Given the description of an element on the screen output the (x, y) to click on. 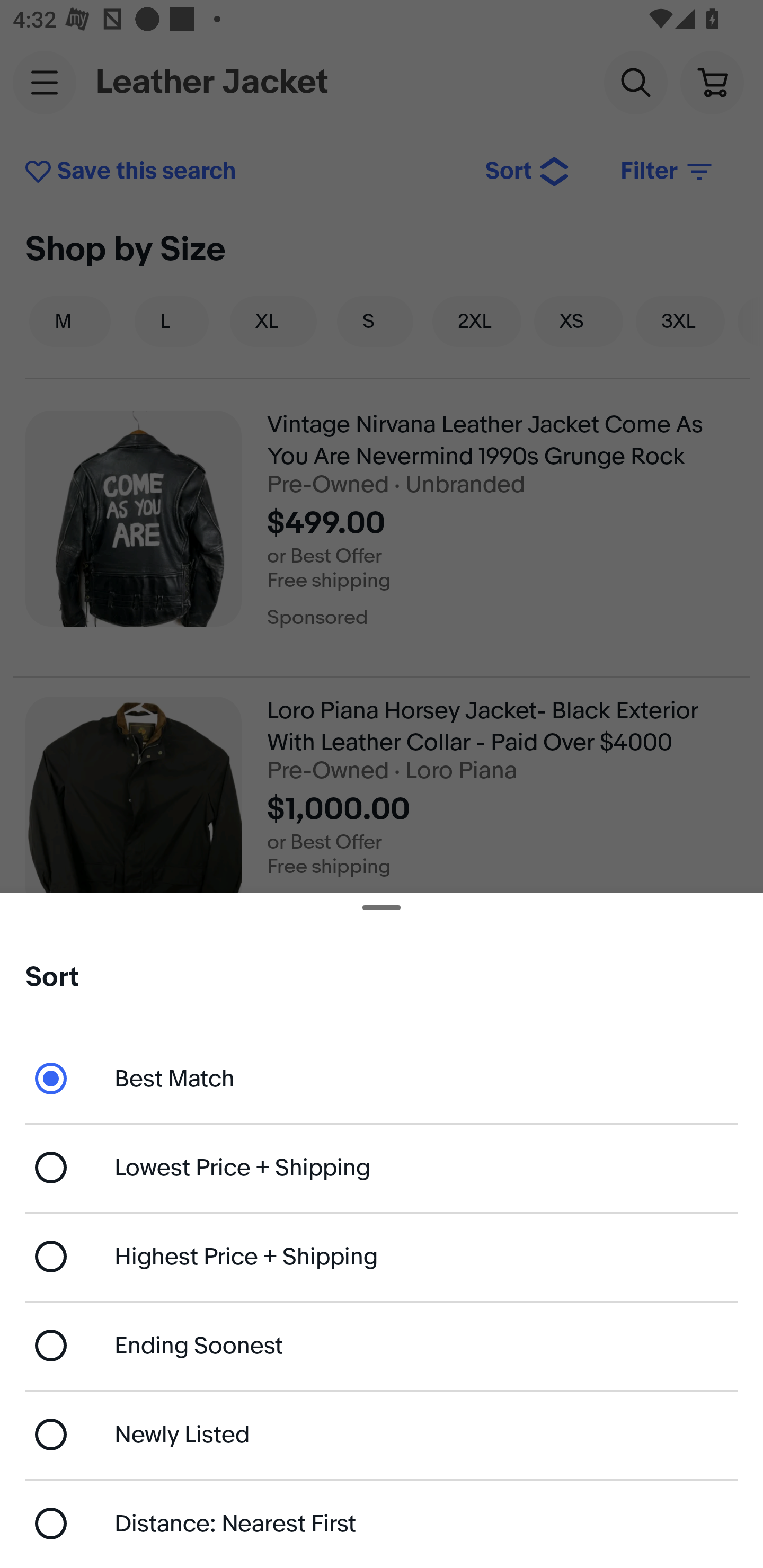
Best Match - currently selected Best Match (381, 1077)
Lowest Price + Shipping (381, 1167)
Highest Price + Shipping (381, 1256)
Ending Soonest (381, 1345)
Newly Listed (381, 1433)
Distance: Nearest First (381, 1523)
